Given the description of an element on the screen output the (x, y) to click on. 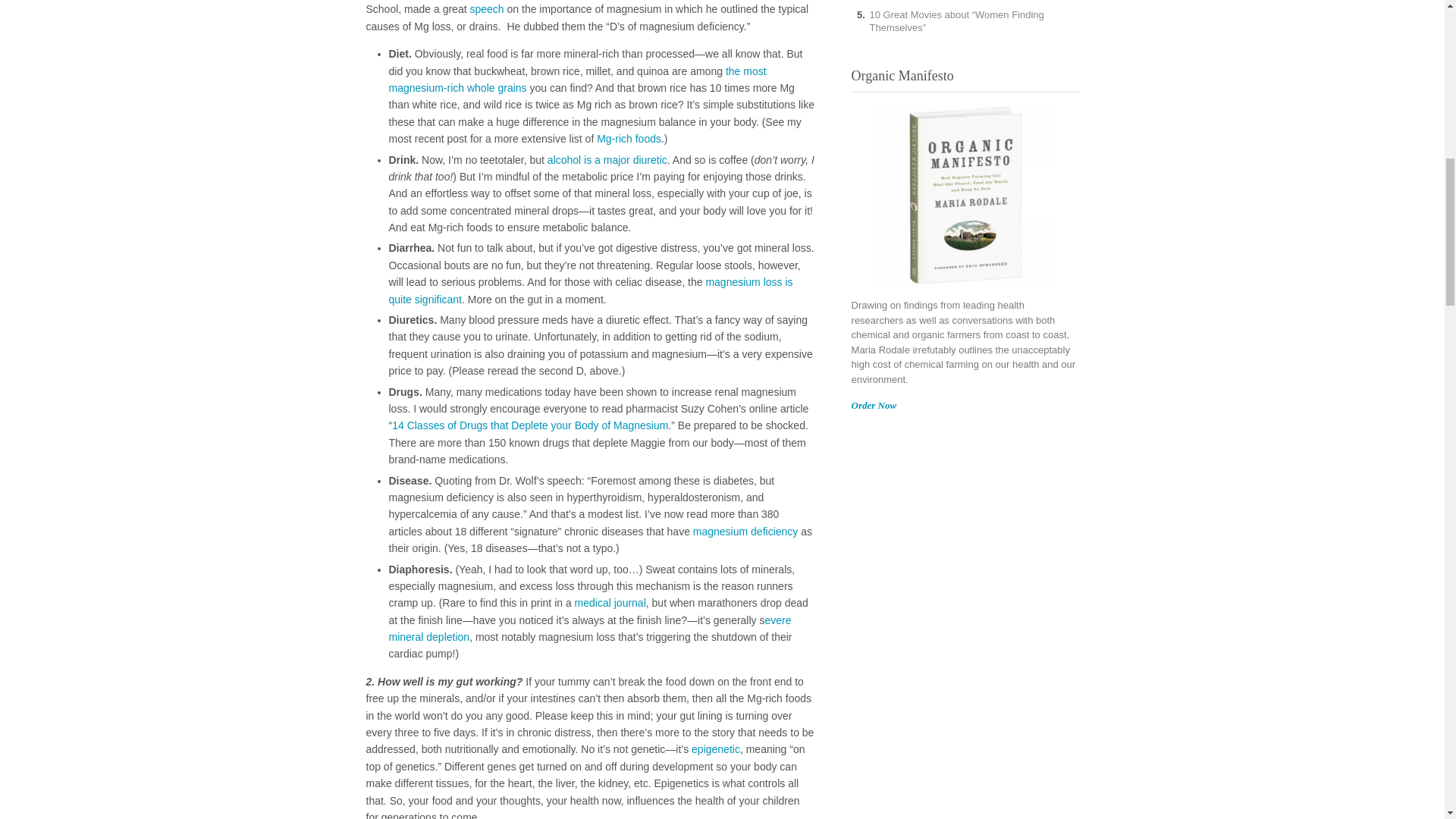
Mg-rich foods (628, 138)
14 Classes of Drugs that Deplete your Body of Magnesium (529, 425)
medical journal (610, 603)
speech (485, 9)
magnesium loss is quite significant (590, 290)
alcohol is a major diuretic (606, 159)
evere mineral depletion (589, 628)
the most magnesium-rich whole grains (576, 79)
epigenetic (715, 748)
magnesium deficiency (745, 531)
